Given the description of an element on the screen output the (x, y) to click on. 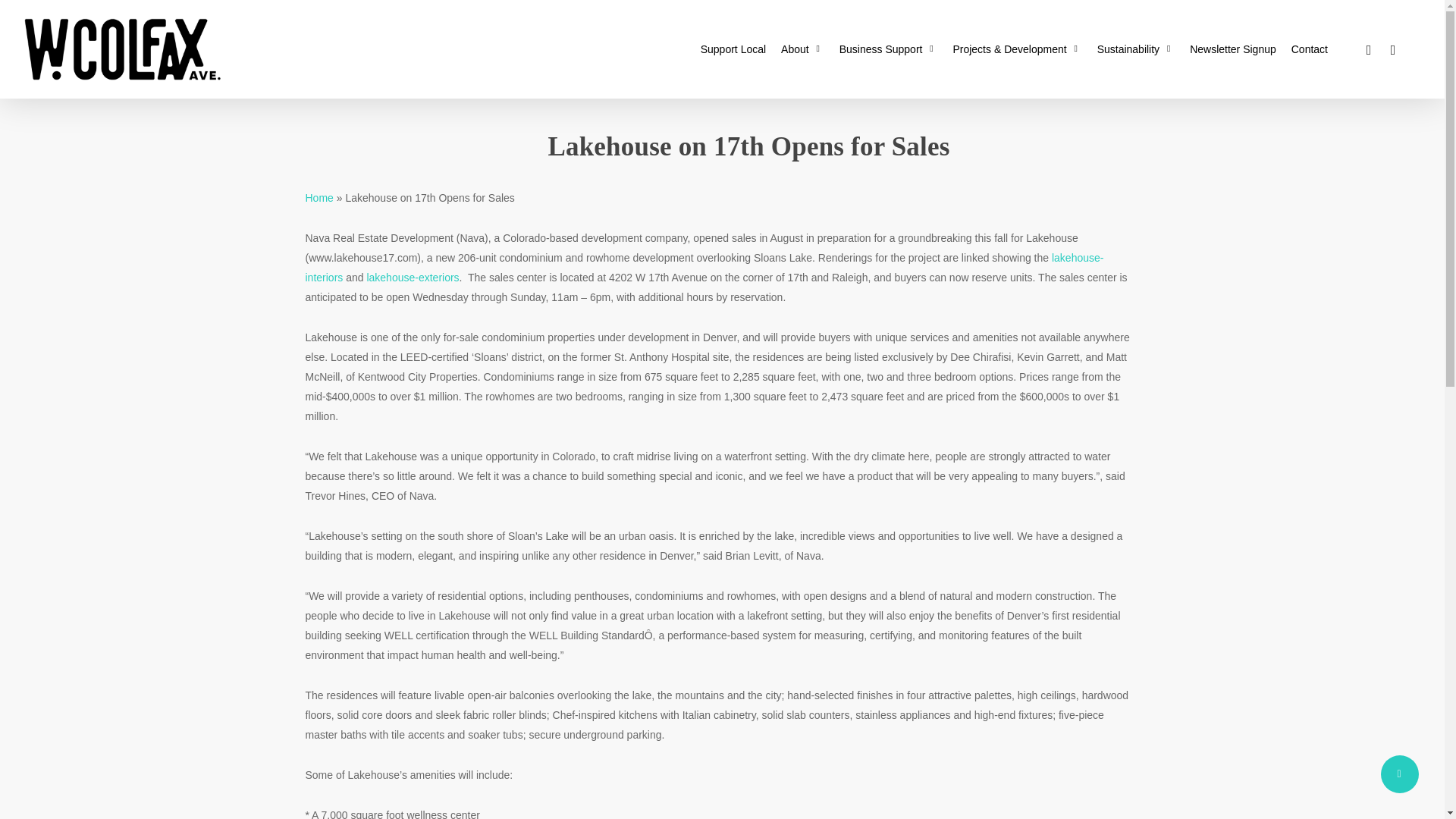
Contact (1309, 48)
facebook (1368, 48)
Support Local (733, 48)
About (802, 48)
lakehouse-interiors (703, 267)
Newsletter Signup (1233, 48)
Business Support (887, 48)
lakehouse-exteriors (412, 277)
instagram (1392, 48)
Sustainability (1135, 48)
